Given the description of an element on the screen output the (x, y) to click on. 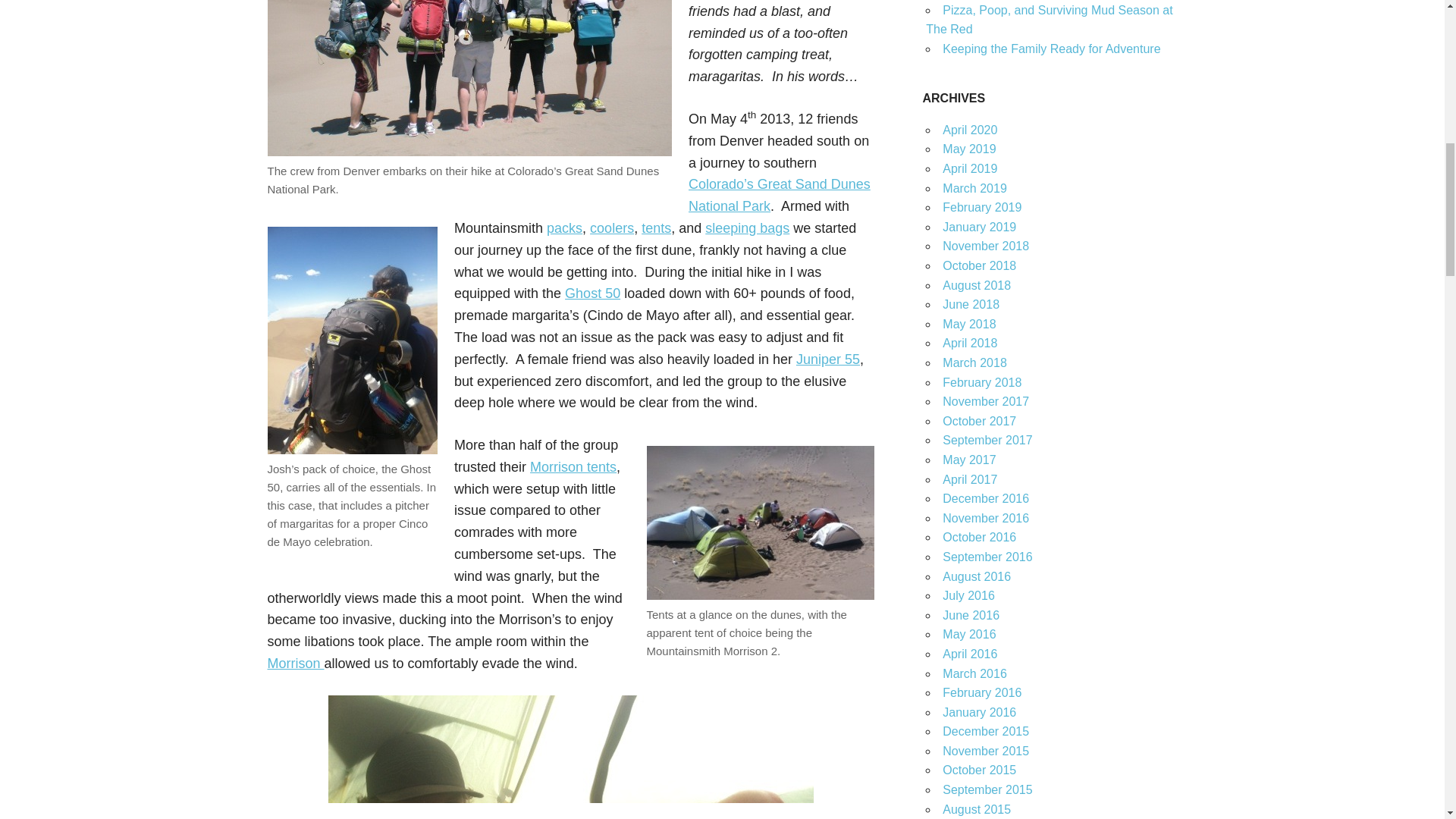
Juniper 55 (828, 359)
Morrison (294, 663)
coolers (611, 227)
packs (564, 227)
Ghost 50 (592, 293)
sleeping bags (746, 227)
Morrison tents (572, 467)
tents (656, 227)
